Given the description of an element on the screen output the (x, y) to click on. 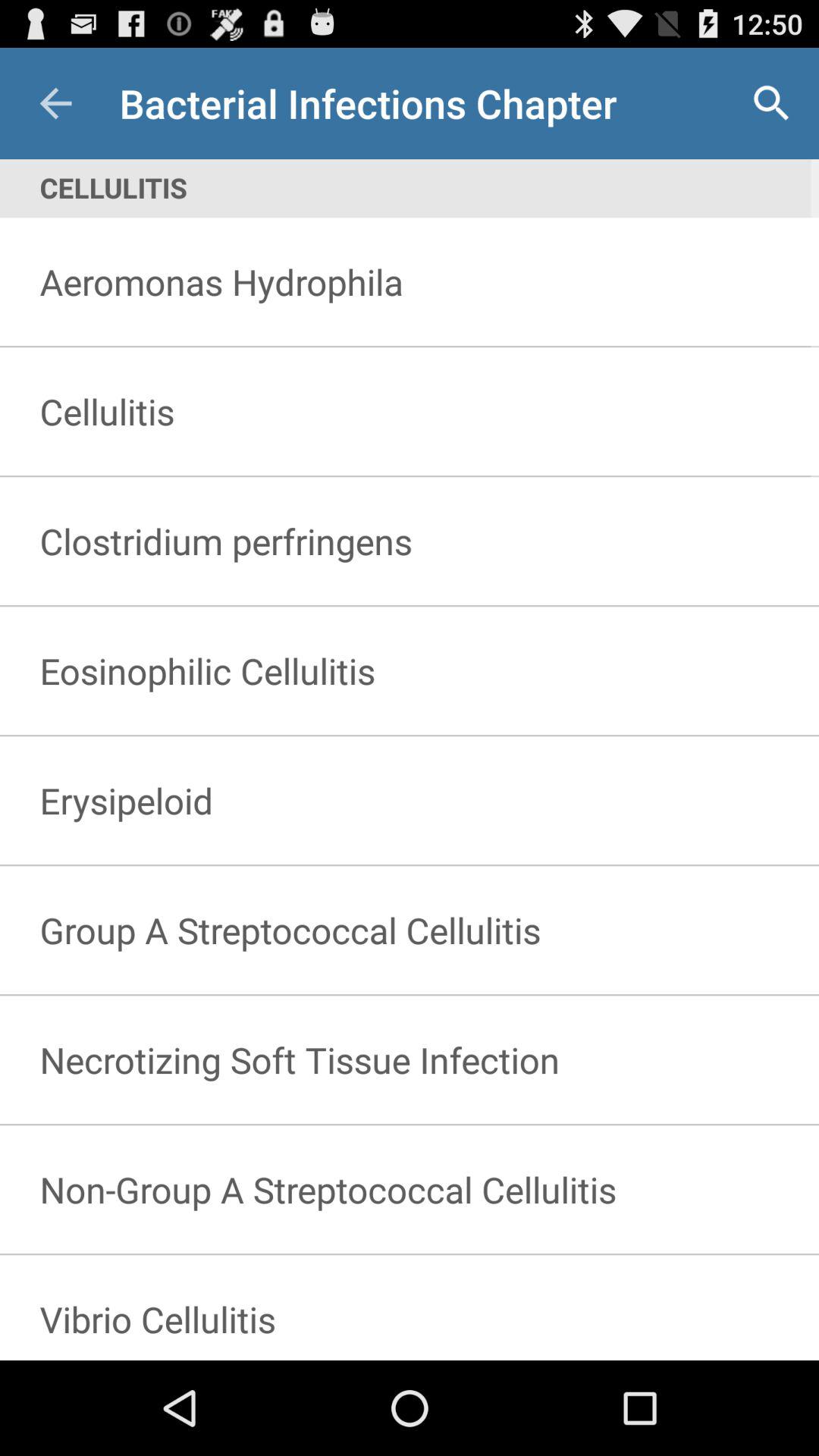
choose item above cellulitis (55, 103)
